Given the description of an element on the screen output the (x, y) to click on. 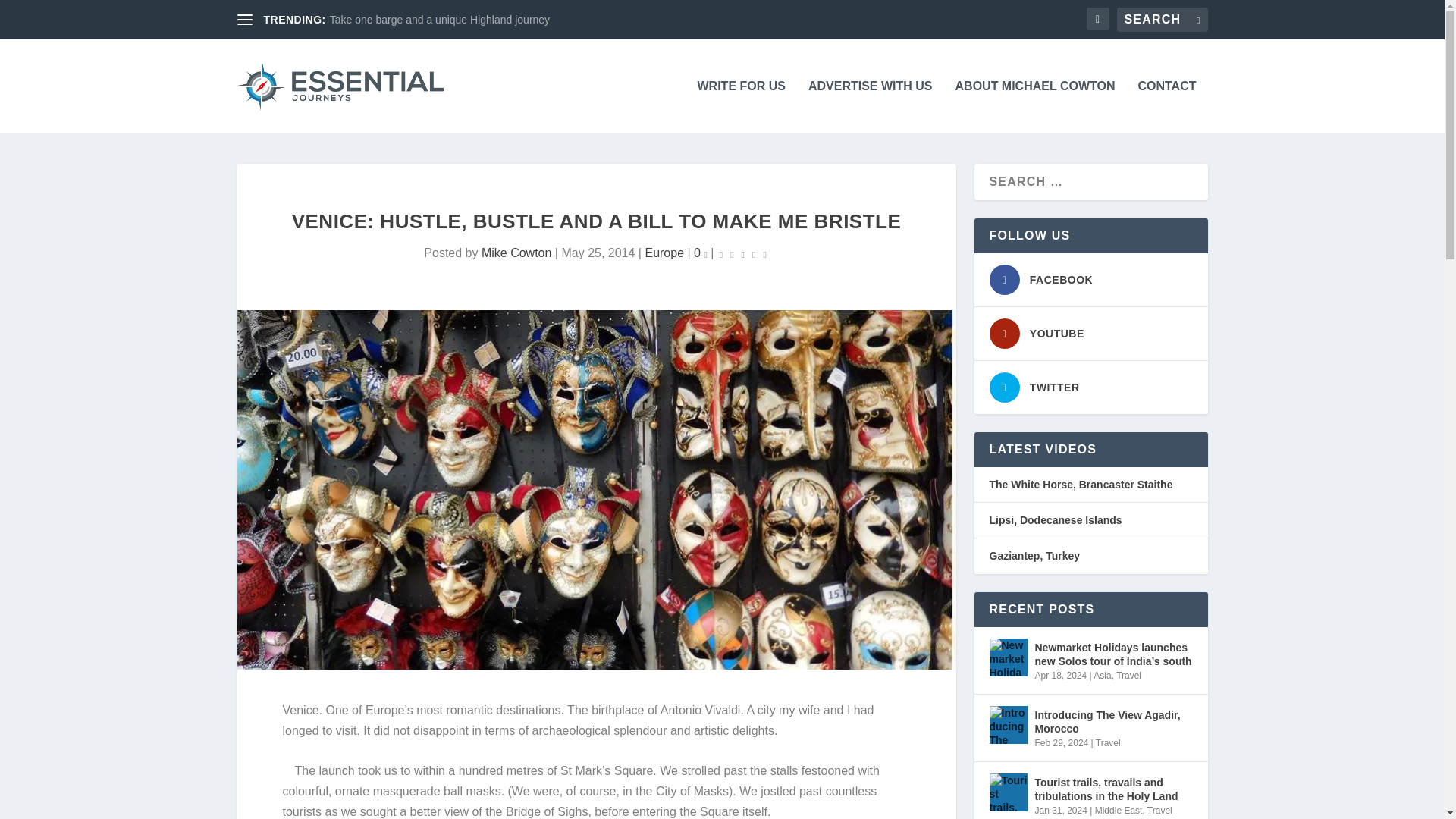
Take one barge and a unique Highland journey (440, 19)
meet-michael-cowton (1035, 106)
Search for: (1161, 19)
advertise-with-us (870, 106)
Mike Cowton (516, 252)
Posts by Mike Cowton (516, 252)
Europe (664, 252)
write-for-us (741, 106)
WRITE FOR US (741, 106)
ABOUT MICHAEL COWTON (1035, 106)
0 (700, 252)
ADVERTISE WITH US (870, 106)
comment count (704, 254)
CONTACT (1166, 106)
Rating: 0.00 (742, 253)
